Given the description of an element on the screen output the (x, y) to click on. 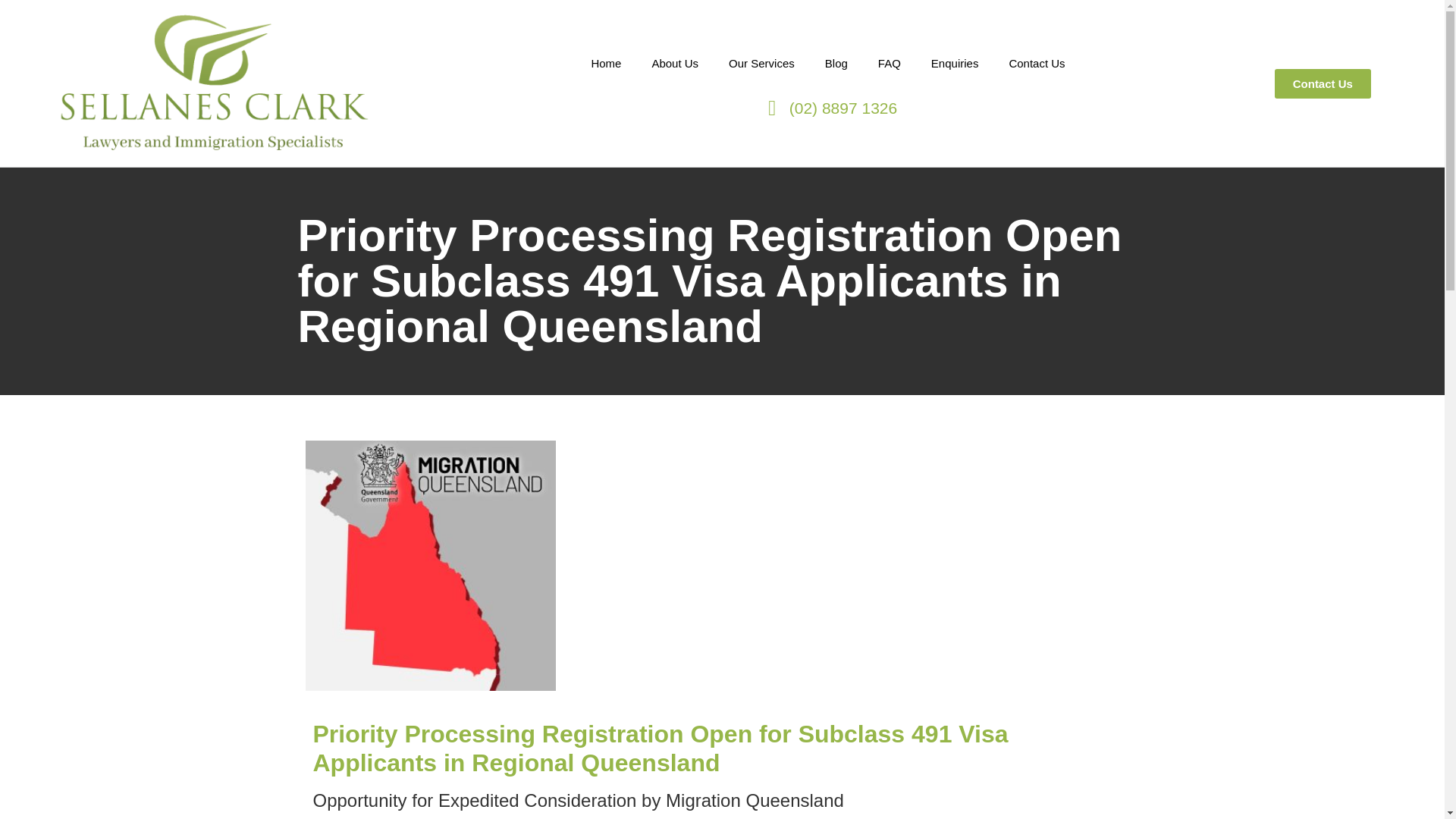
Enquiries (954, 63)
Contact Us (1323, 82)
Home (605, 63)
Blog (836, 63)
About Us (674, 63)
Contact Us (1036, 63)
FAQ (889, 63)
Our Services (761, 63)
